Given the description of an element on the screen output the (x, y) to click on. 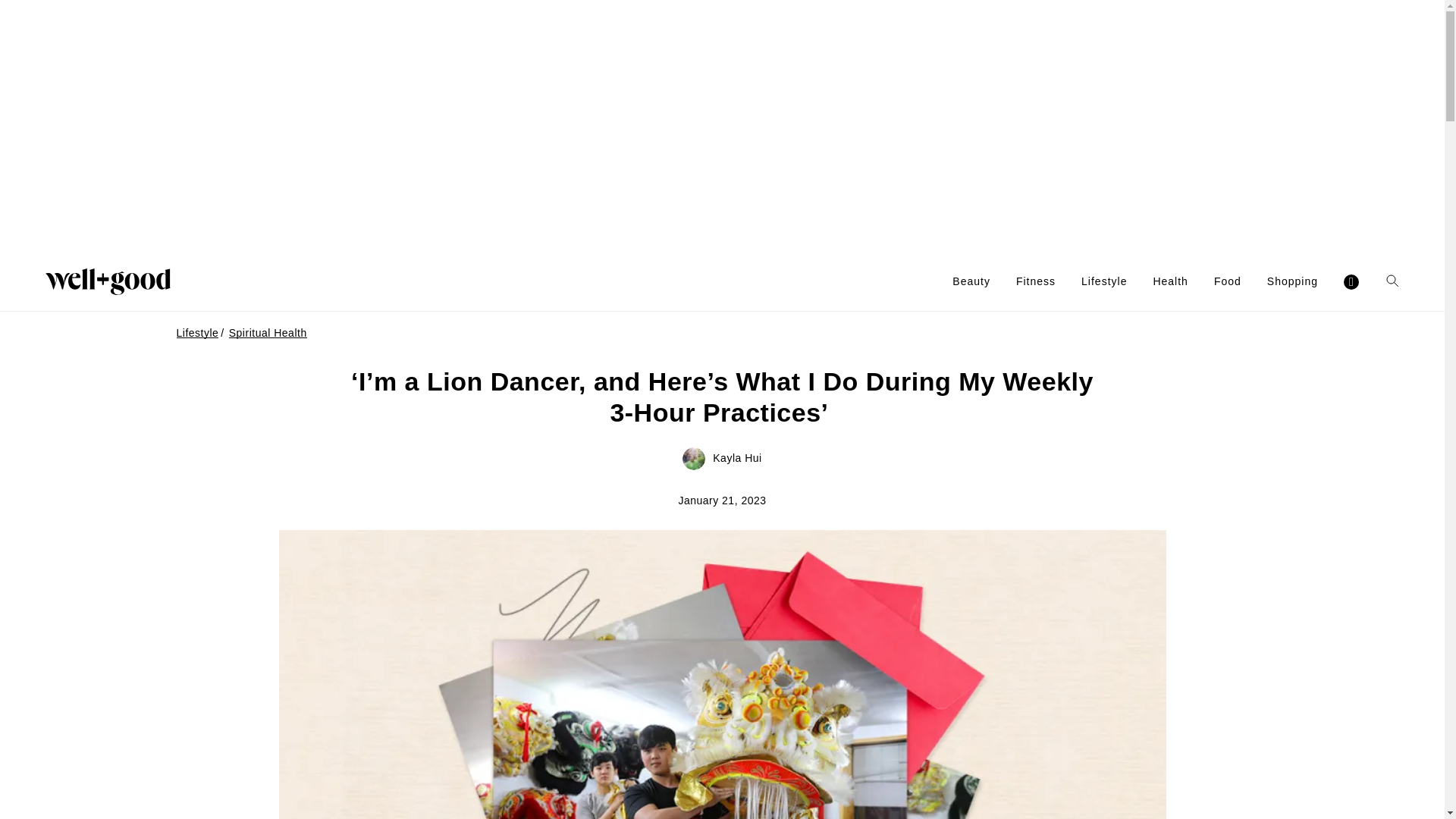
Shopping (1291, 281)
Lifestyle (1103, 281)
Health (1170, 281)
Food (1227, 281)
Beauty (971, 281)
Fitness (1035, 281)
